Given the description of an element on the screen output the (x, y) to click on. 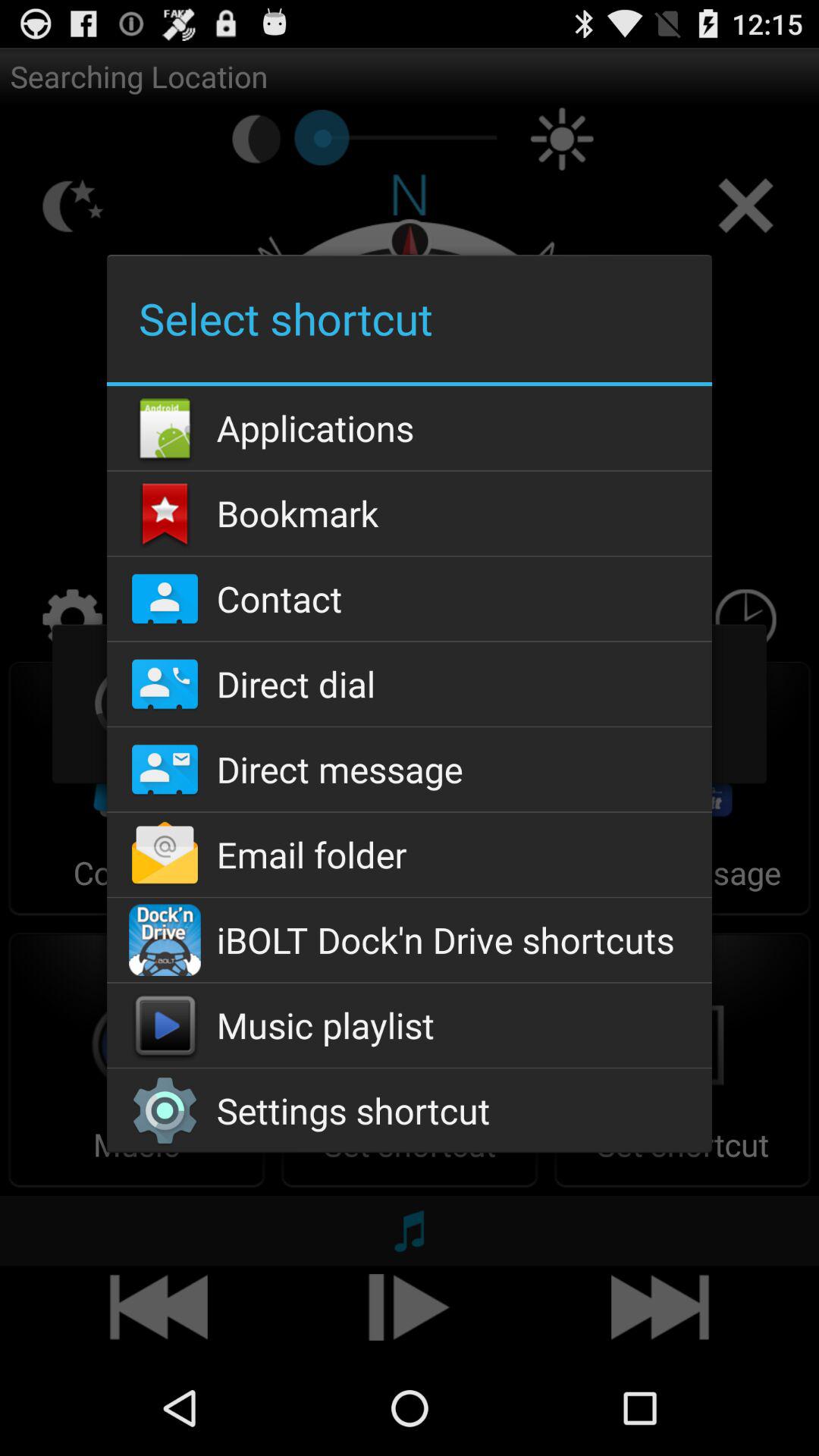
open the app below direct message icon (409, 854)
